Given the description of an element on the screen output the (x, y) to click on. 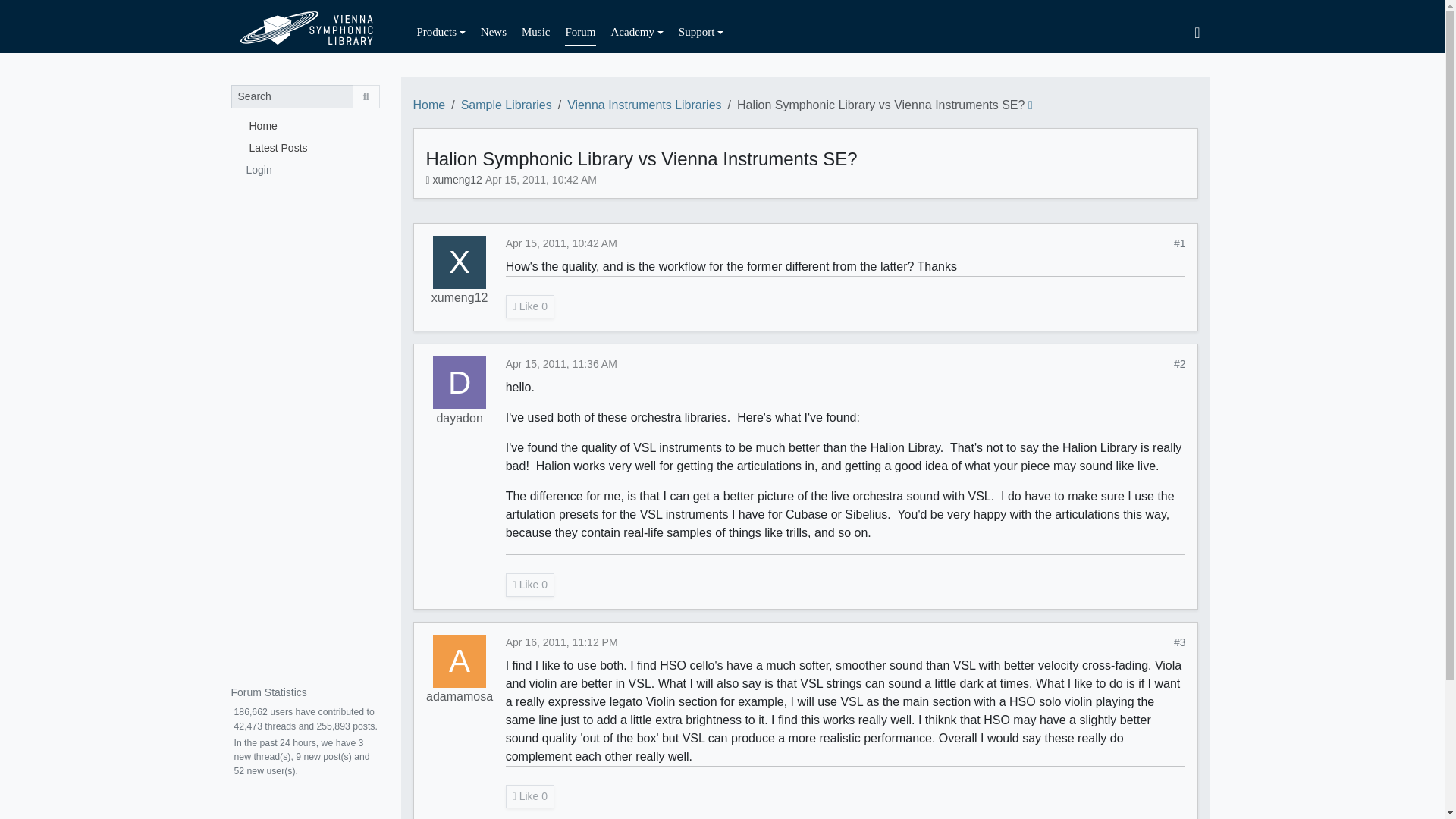
Apr 15, 2011, 10:42 AM (540, 179)
xumeng12 (456, 179)
Apr 15, 2011, 10:42 AM (561, 243)
Latest Posts (304, 147)
dayadon (458, 418)
News (493, 32)
dayadon (459, 382)
Music (535, 32)
Academy (637, 32)
xumeng12 (458, 298)
xumeng12 (459, 262)
Products (441, 32)
Forum (579, 32)
